Given the description of an element on the screen output the (x, y) to click on. 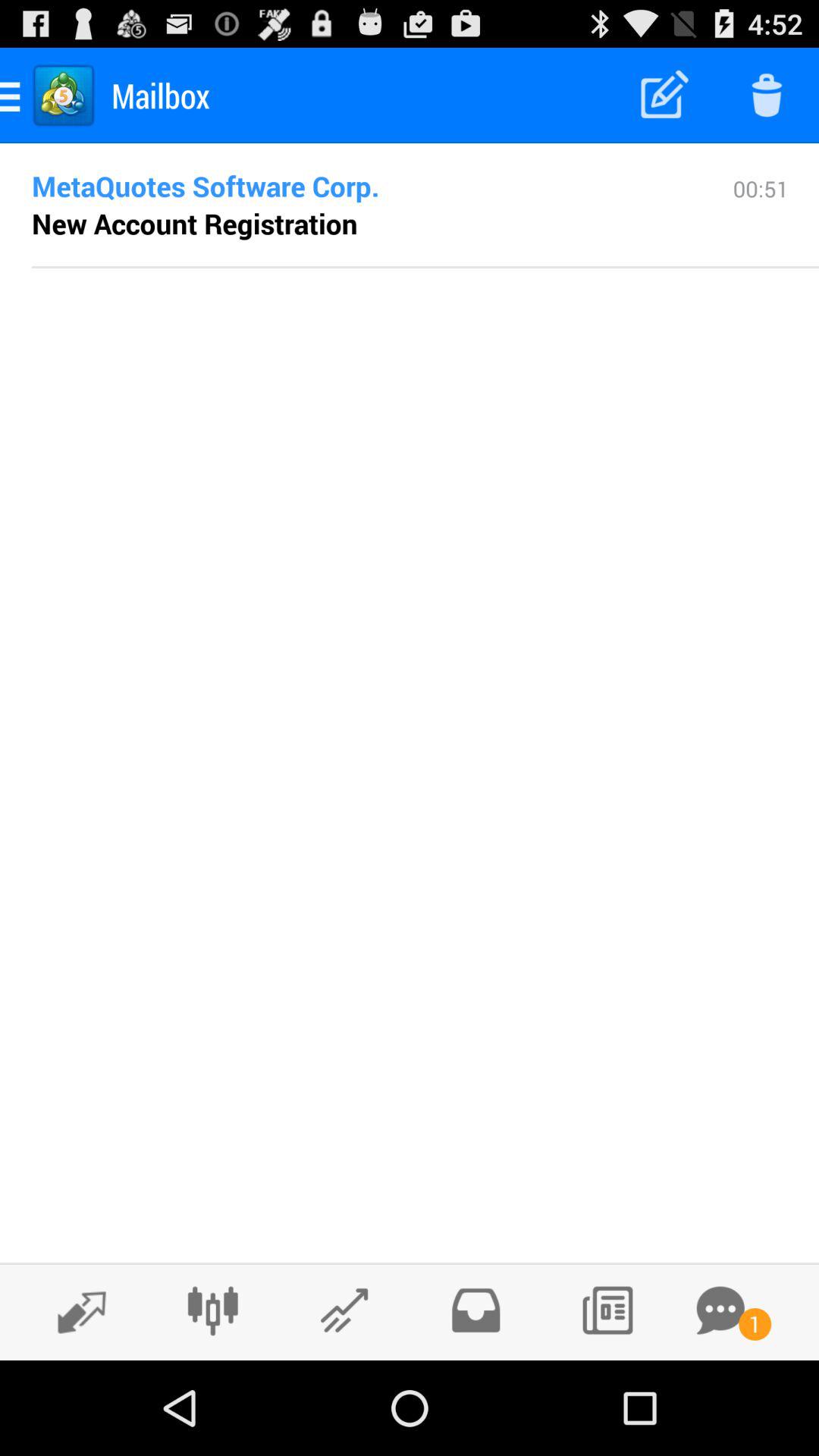
open messages (720, 1310)
